Given the description of an element on the screen output the (x, y) to click on. 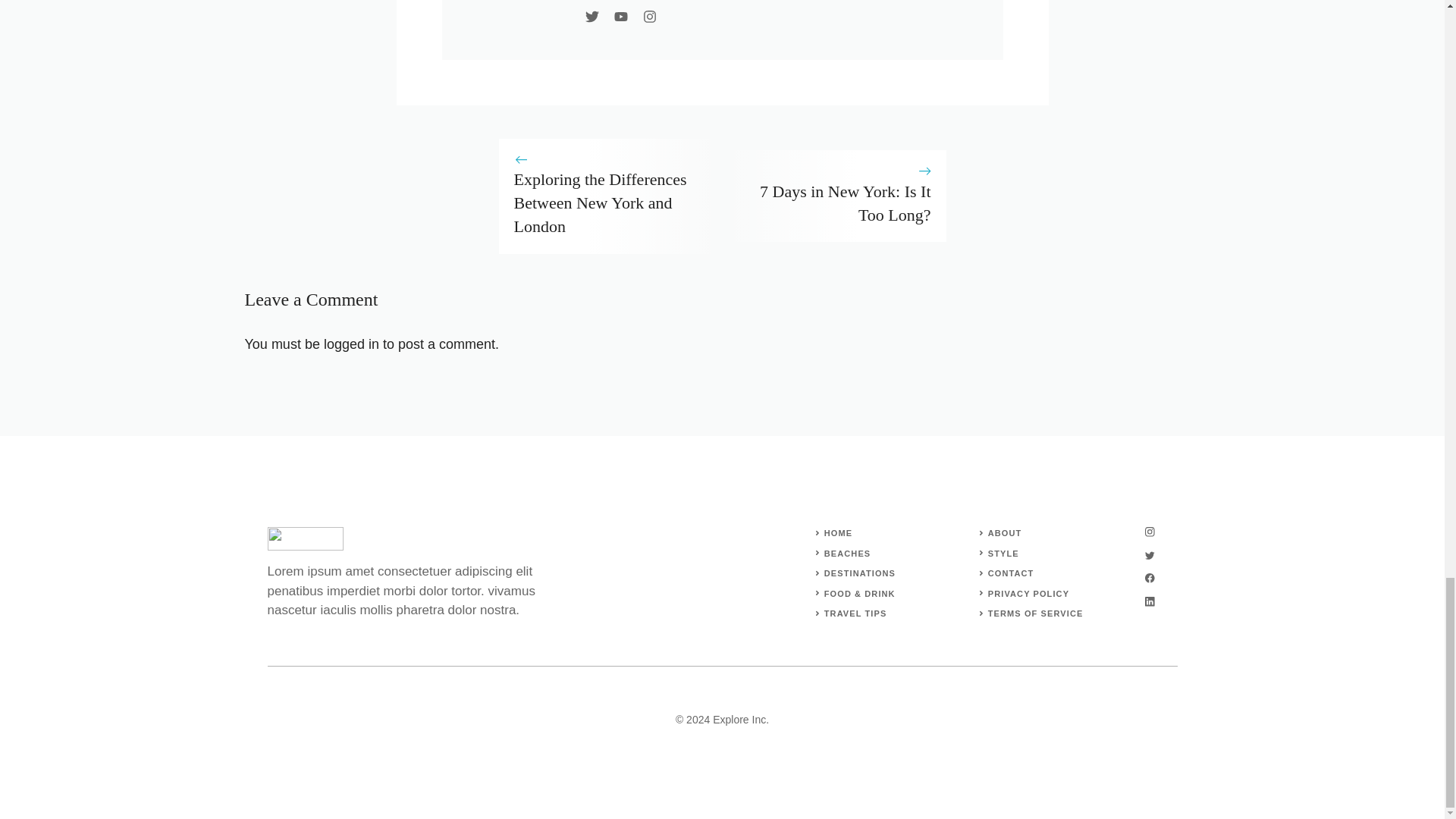
logged in (350, 344)
7 Days in New York: Is It Too Long? (845, 202)
CONTACT (1010, 573)
explore-logo (304, 538)
STYLE (1003, 552)
ABOUT (1005, 532)
BEACHES (847, 552)
PRIVACY POLICY (1028, 593)
TERMS OF SERVICE (1035, 613)
Exploring the Differences Between New York and London (600, 202)
DESTINATIONS (859, 573)
TRAVEL TIPS (855, 613)
HOME (837, 532)
